Given the description of an element on the screen output the (x, y) to click on. 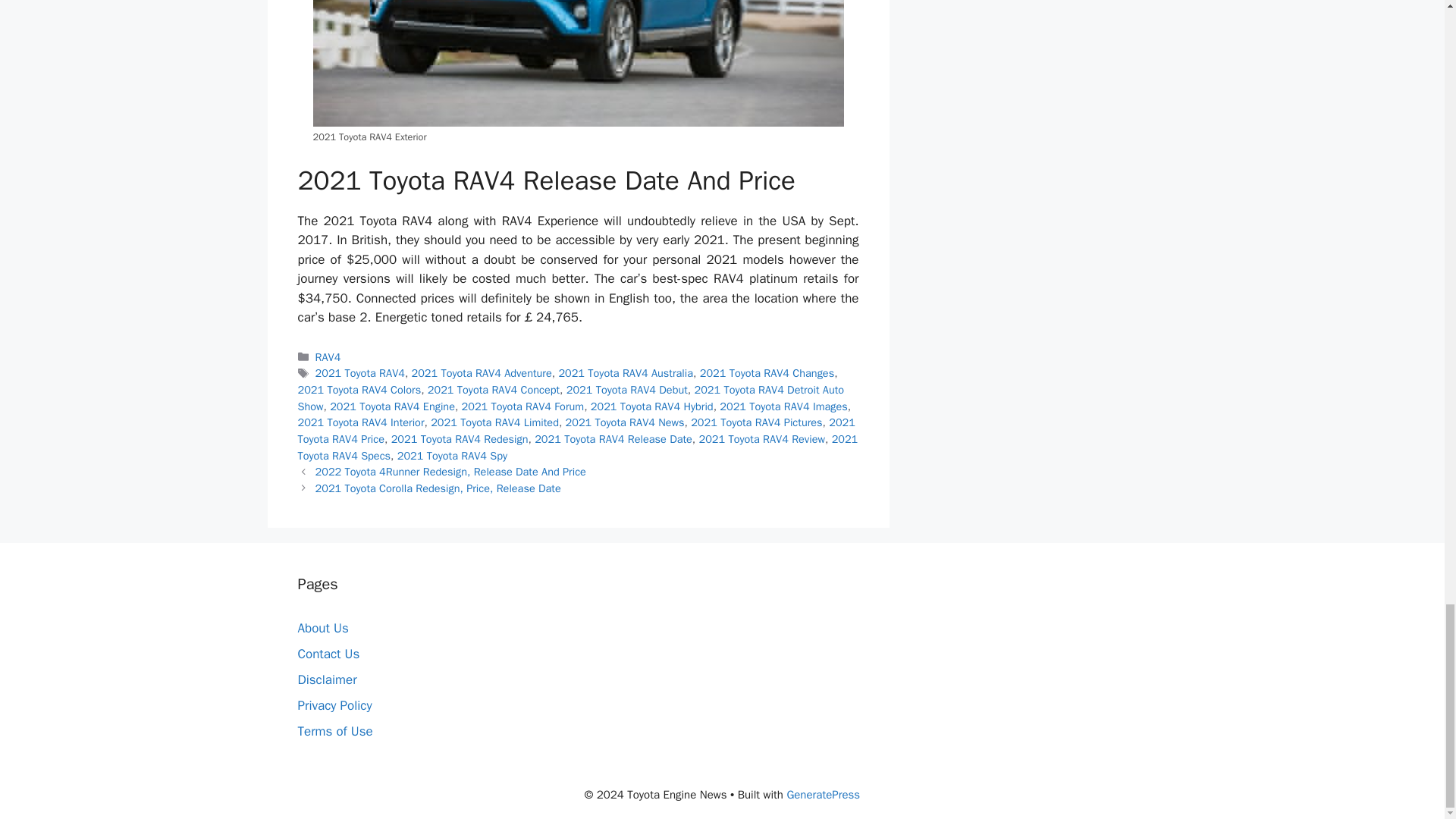
2021 Toyota RAV4 Adventure (481, 373)
2021 Toyota RAV4 Pictures (756, 422)
RAV4 (327, 356)
2021 Toyota RAV4 Colors (358, 389)
2021 Toyota RAV4 Price (575, 430)
2021 Toyota RAV4 News (625, 422)
2021 Toyota RAV4 Detroit Auto Show (570, 398)
2021 Toyota RAV4 (359, 373)
2021 Toyota RAV4 Redesign (459, 438)
2021 Toyota RAV4 Changes (767, 373)
